Given the description of an element on the screen output the (x, y) to click on. 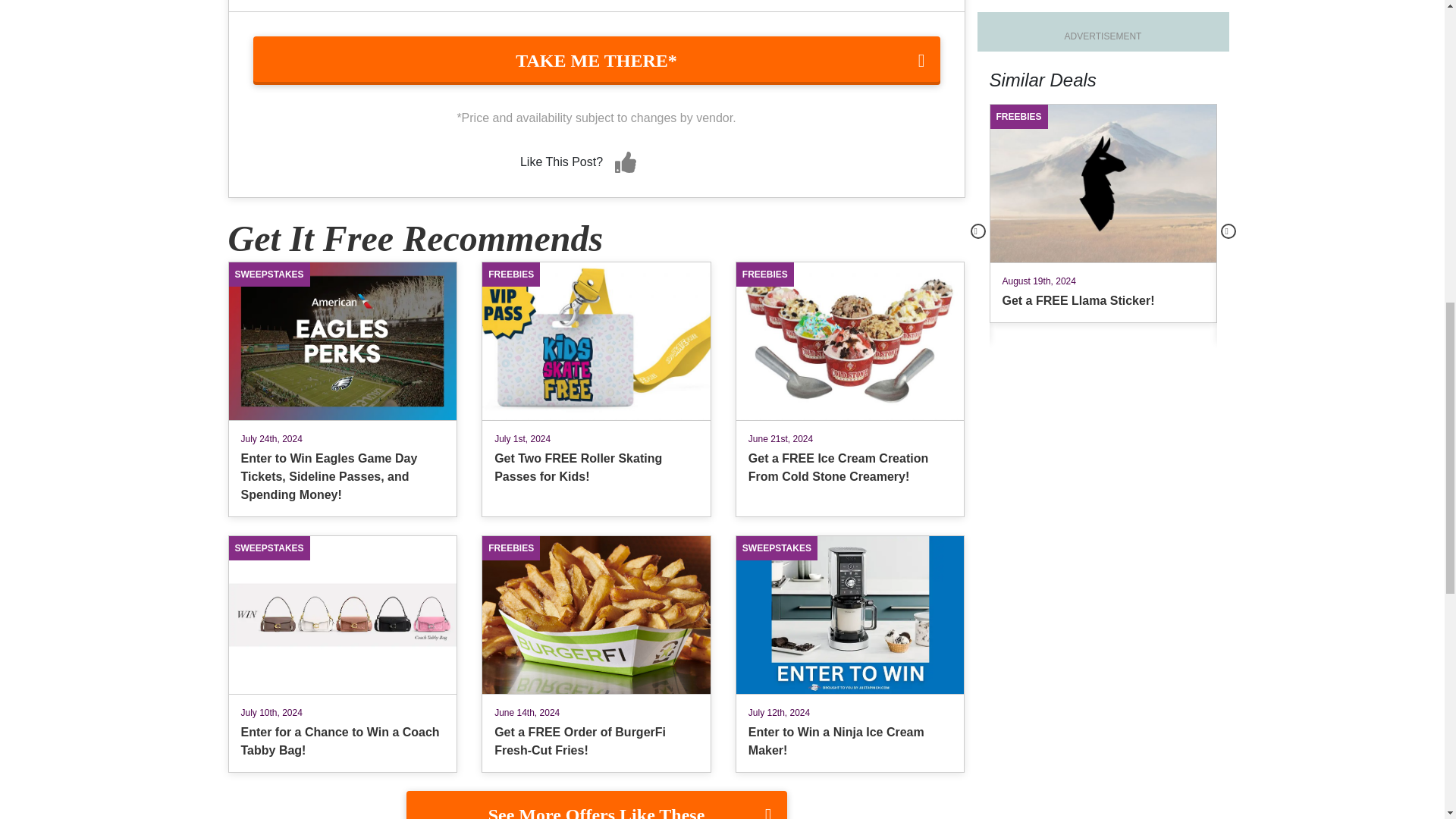
See More Offers Like These (596, 805)
